Given the description of an element on the screen output the (x, y) to click on. 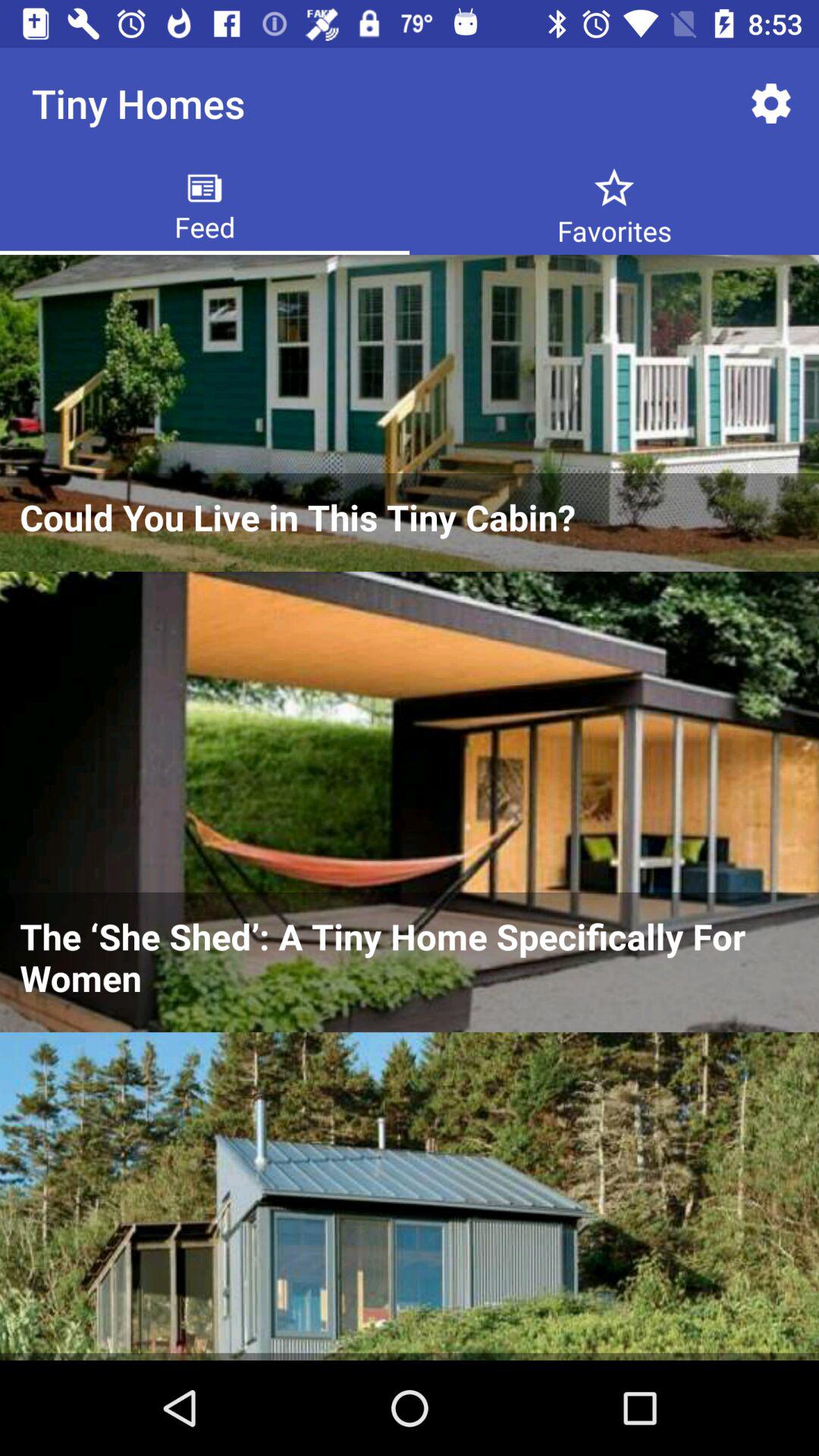
turn on the icon next to tiny homes item (771, 103)
